Given the description of an element on the screen output the (x, y) to click on. 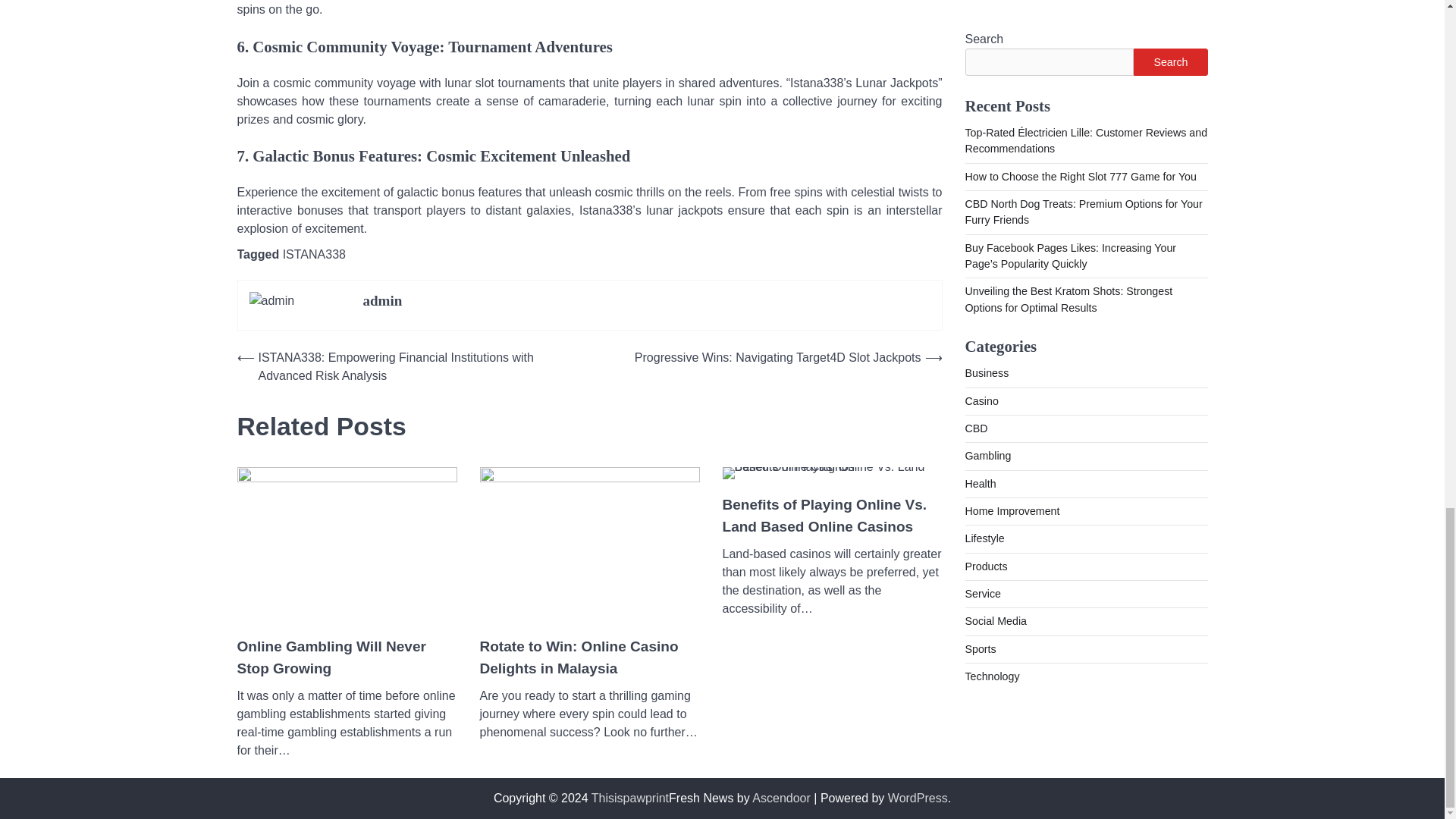
Ascendoor (781, 797)
Benefits of Playing Online Vs. Land Based Online Casinos (832, 515)
Thisispawprint (629, 797)
ISTANA338 (314, 254)
Online Gambling Will Never Stop Growing (346, 657)
Rotate to Win: Online Casino Delights in Malaysia (588, 657)
